Given the description of an element on the screen output the (x, y) to click on. 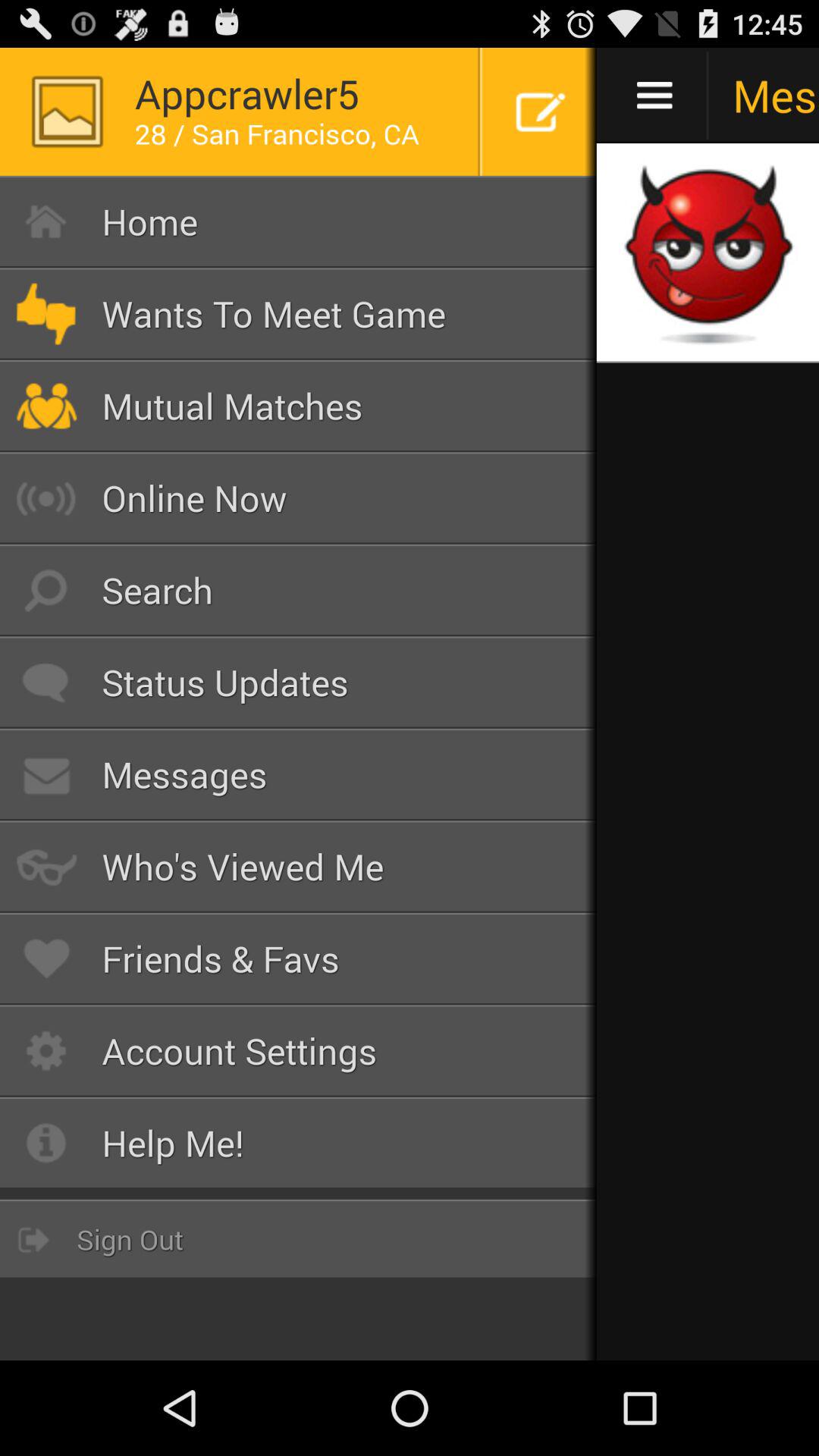
launch help me! icon (298, 1143)
